Given the description of an element on the screen output the (x, y) to click on. 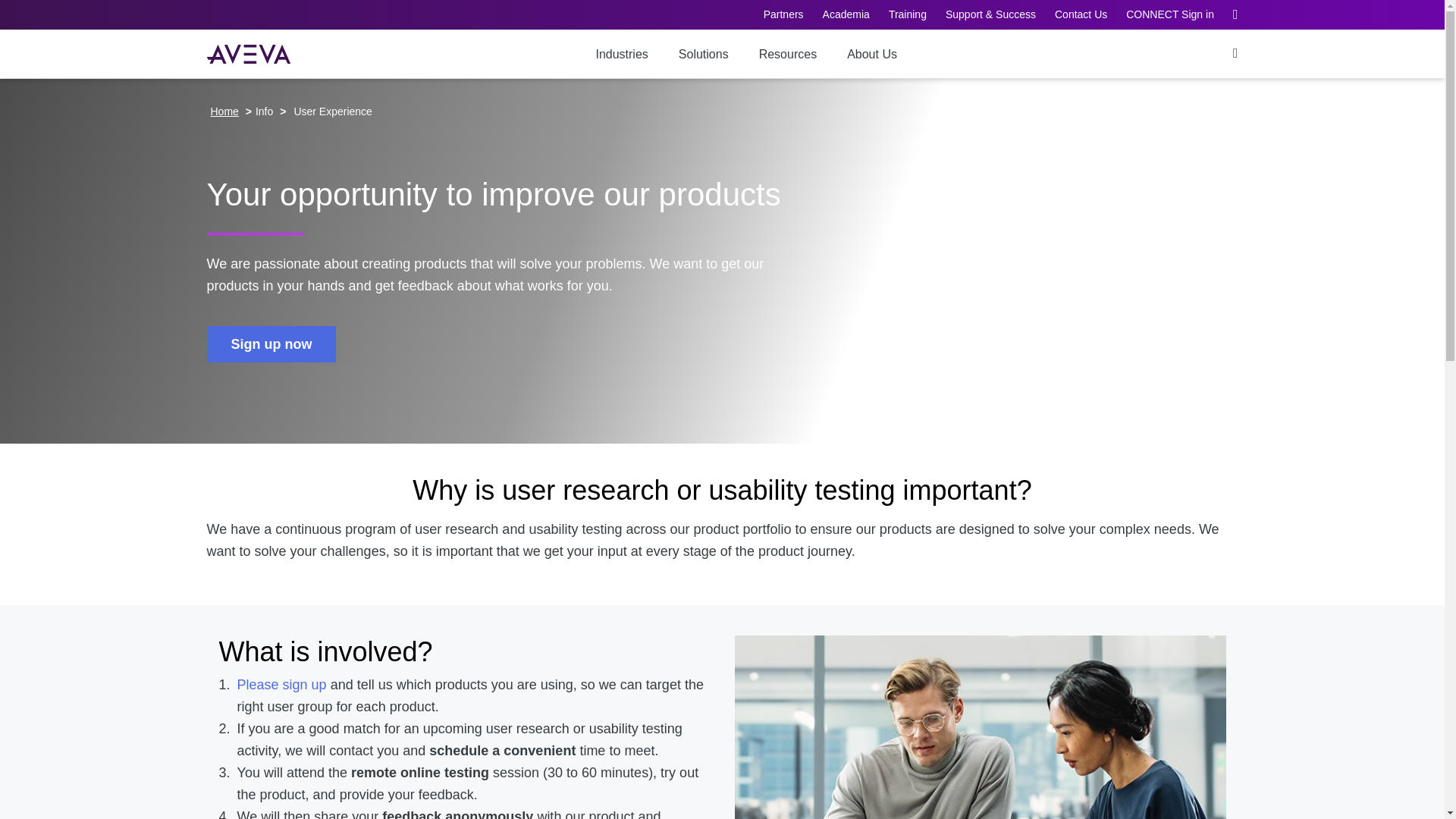
Industries (621, 53)
CONNECT Sign in (1169, 14)
Contact Us (1080, 14)
Training (907, 14)
Academia (845, 14)
Partners (782, 14)
